Given the description of an element on the screen output the (x, y) to click on. 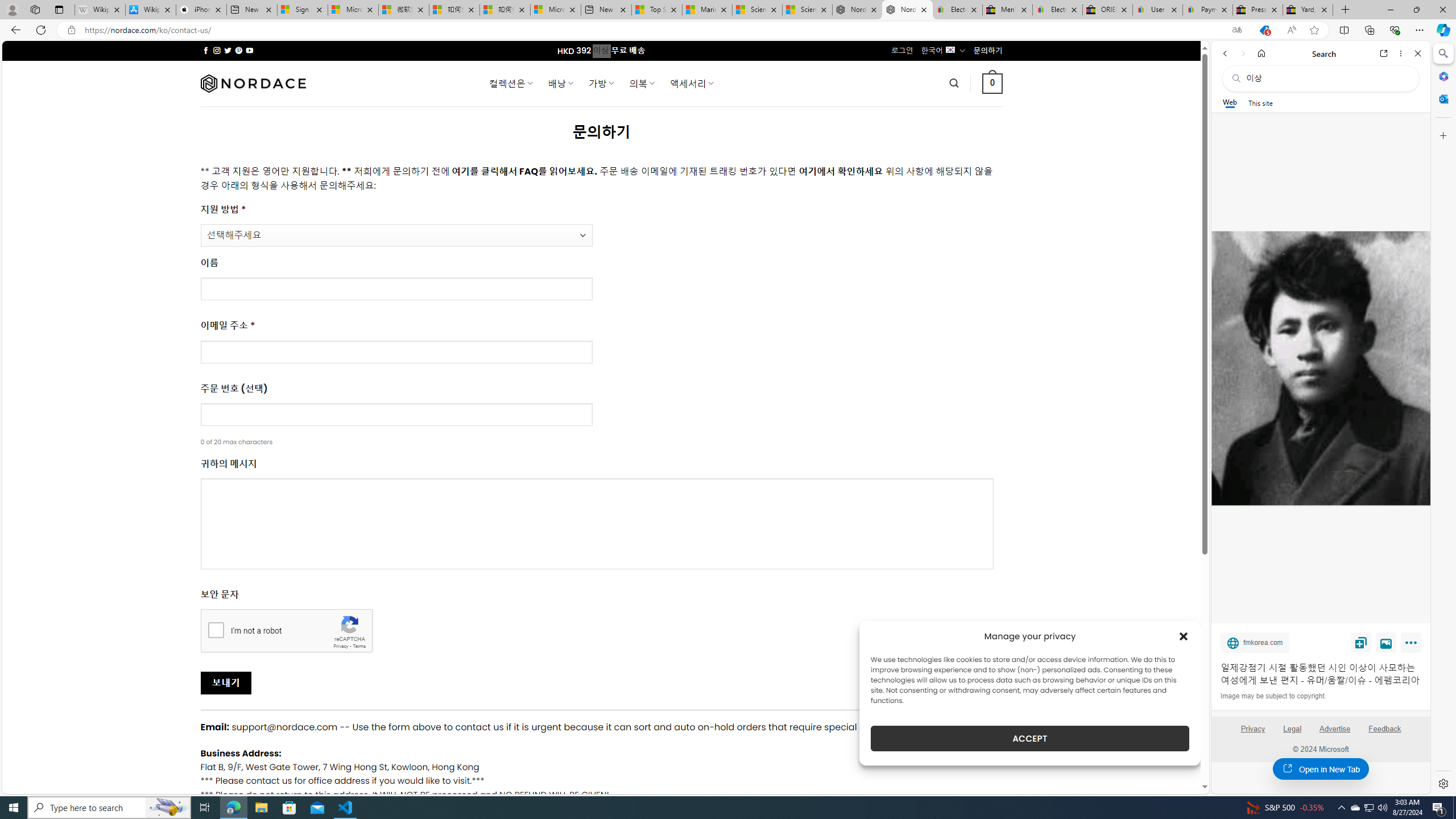
Image may be subject to copyright. (1273, 696)
More (1413, 644)
Press Room - eBay Inc. (1257, 9)
Yard, Garden & Outdoor Living (1308, 9)
 0  (992, 83)
Show translate options (1236, 29)
Follow on Facebook (205, 50)
Marine life - MSN (706, 9)
Open in New Tab (1321, 768)
